Given the description of an element on the screen output the (x, y) to click on. 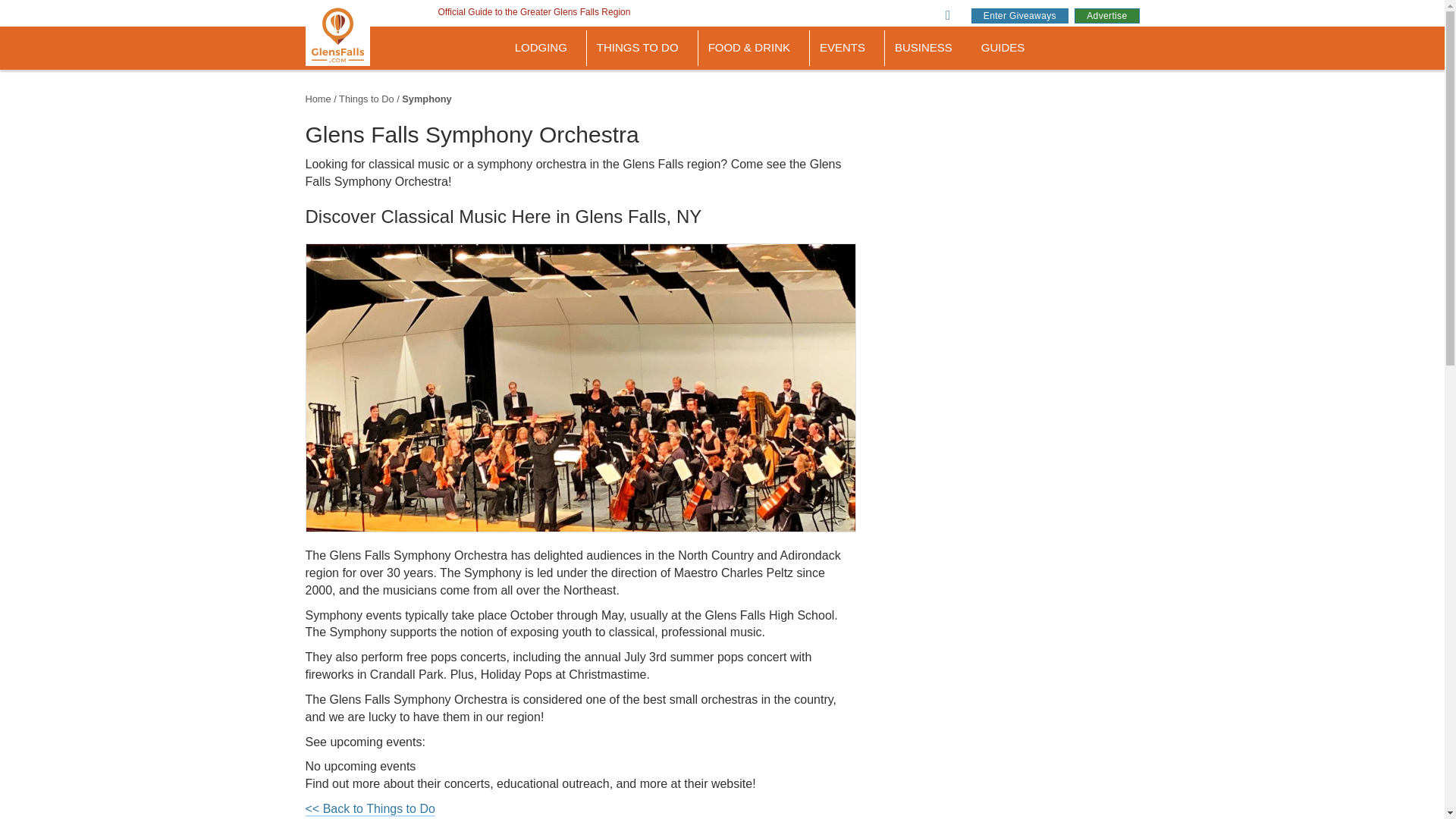
Enter Giveaways (1019, 14)
THINGS TO DO (642, 48)
Advertise (1106, 14)
Weather Forecast (757, 0)
LODGING (545, 48)
